Given the description of an element on the screen output the (x, y) to click on. 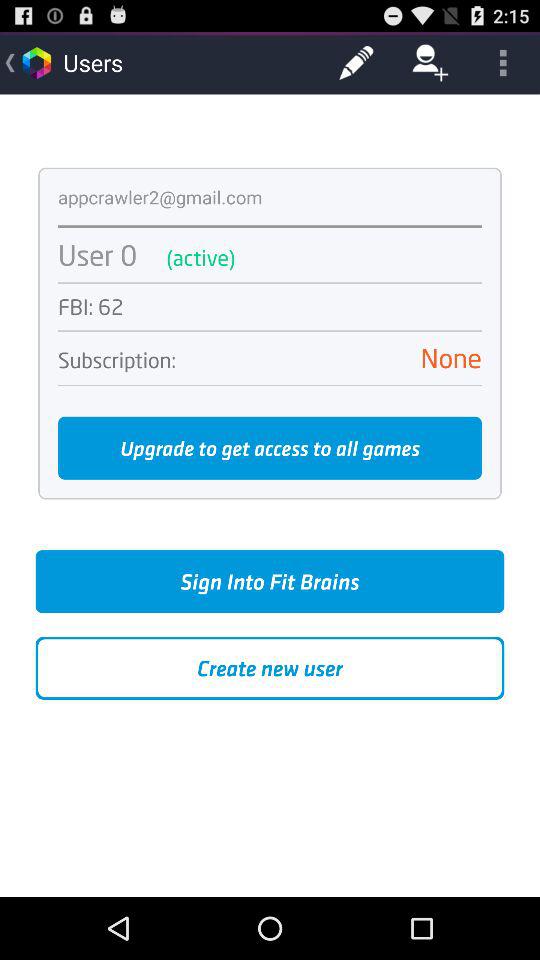
press the app below none icon (269, 385)
